Given the description of an element on the screen output the (x, y) to click on. 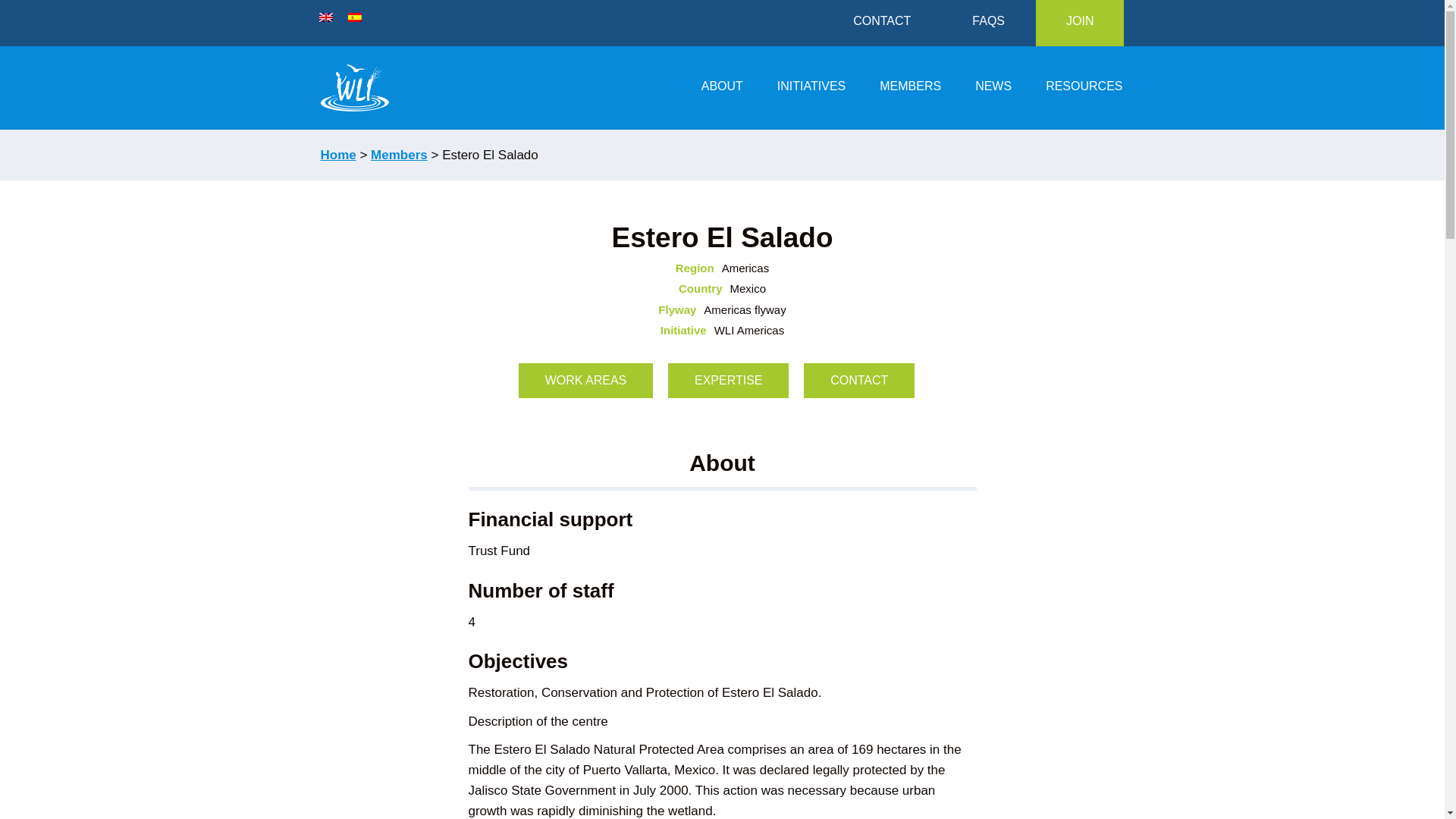
Home (337, 155)
JOIN (1079, 22)
Go to Members. (399, 155)
FAQS (988, 22)
CONTACT (881, 22)
Go to Wetland Link International. (337, 155)
Members (399, 155)
RESOURCES (1083, 87)
WORK AREAS (585, 380)
MEMBERS (910, 87)
